Given the description of an element on the screen output the (x, y) to click on. 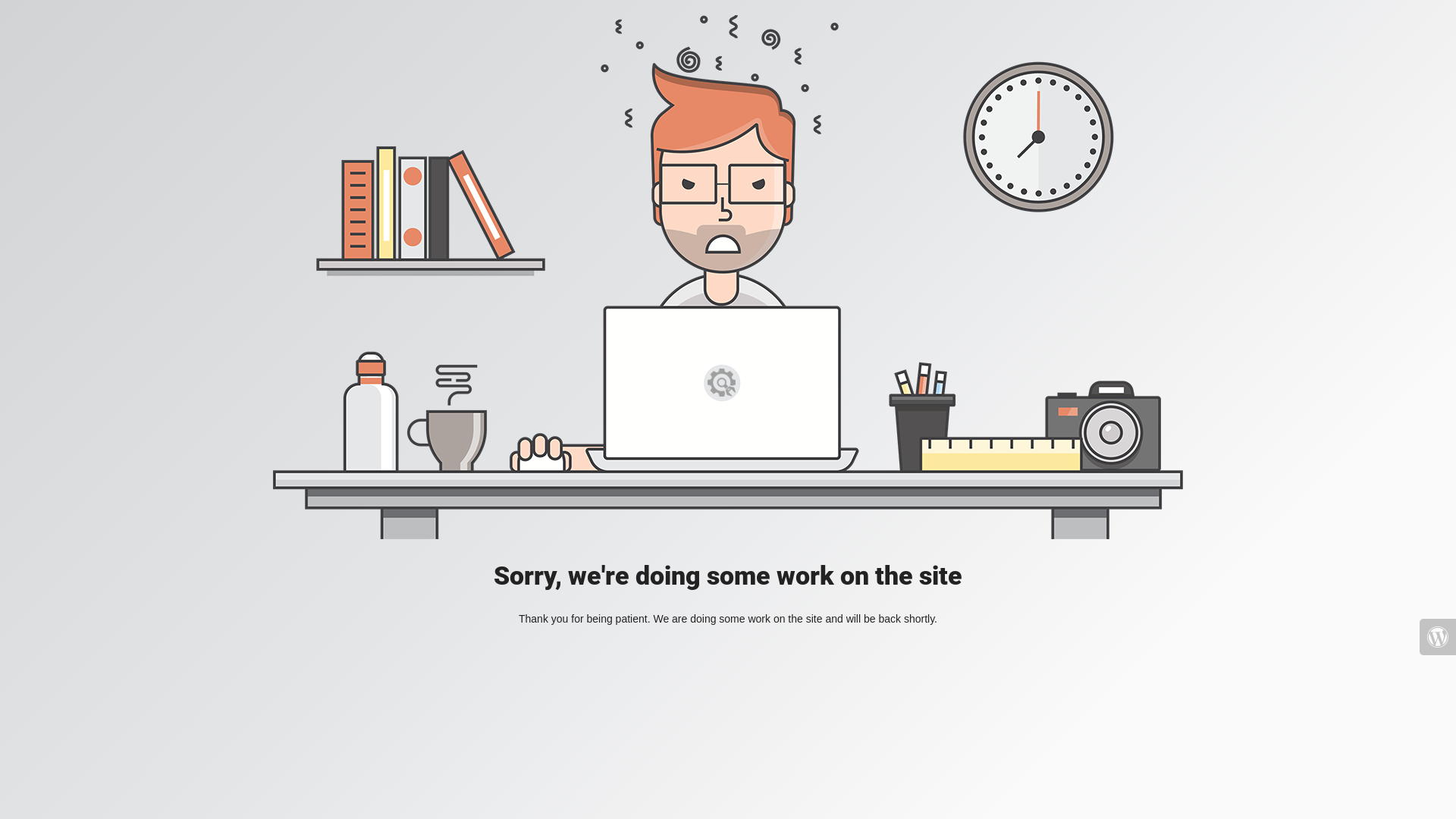
Mad Designer at work Element type: hover (728, 277)
